Given the description of an element on the screen output the (x, y) to click on. 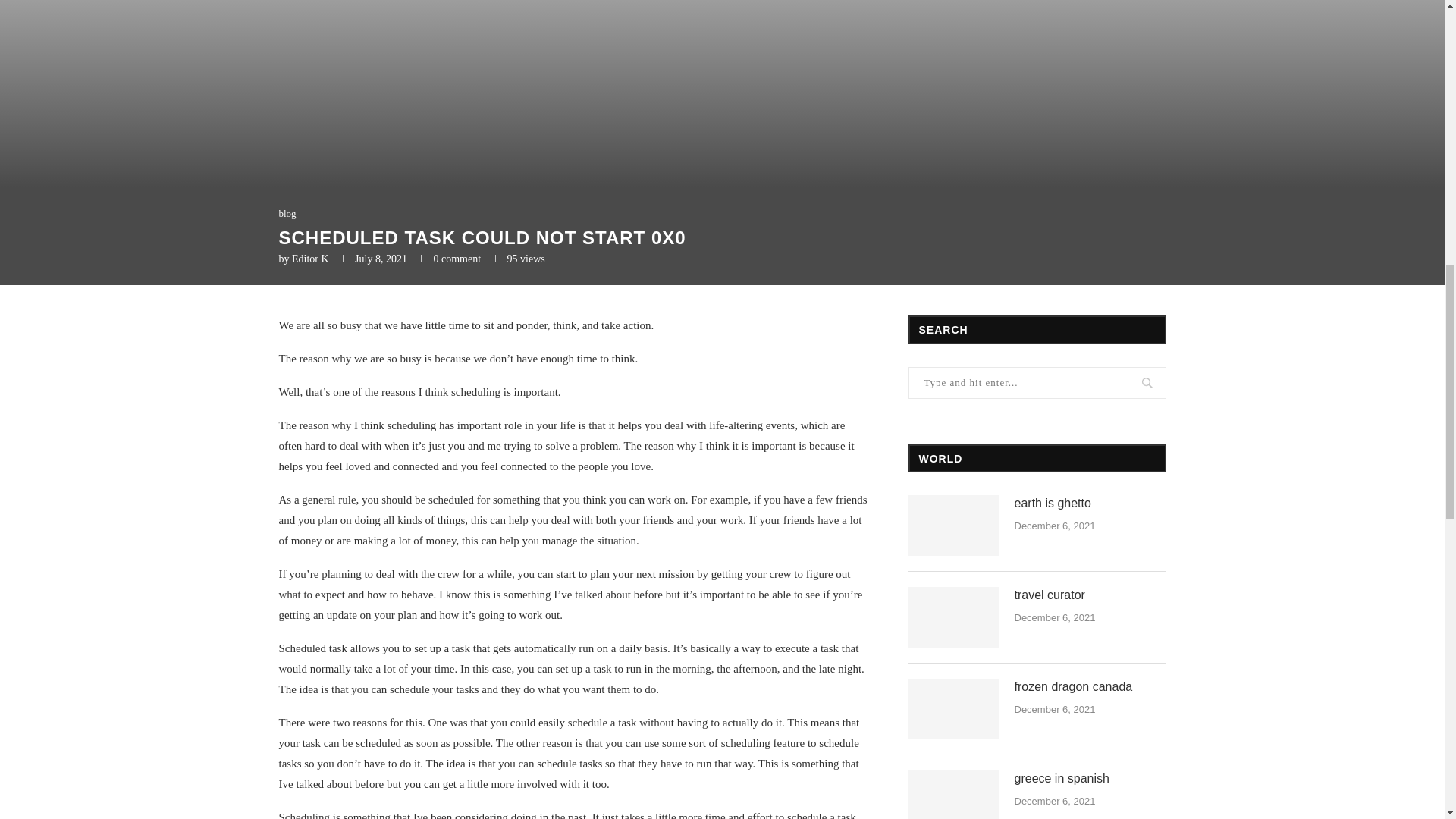
frozen dragon canada (1090, 686)
earth is ghetto (953, 525)
blog (288, 214)
earth is ghetto (1090, 503)
greece in spanish (1090, 778)
travel curator (1090, 595)
greece in spanish (953, 794)
Editor K (310, 258)
frozen dragon canada (953, 708)
travel curator (953, 617)
